Given the description of an element on the screen output the (x, y) to click on. 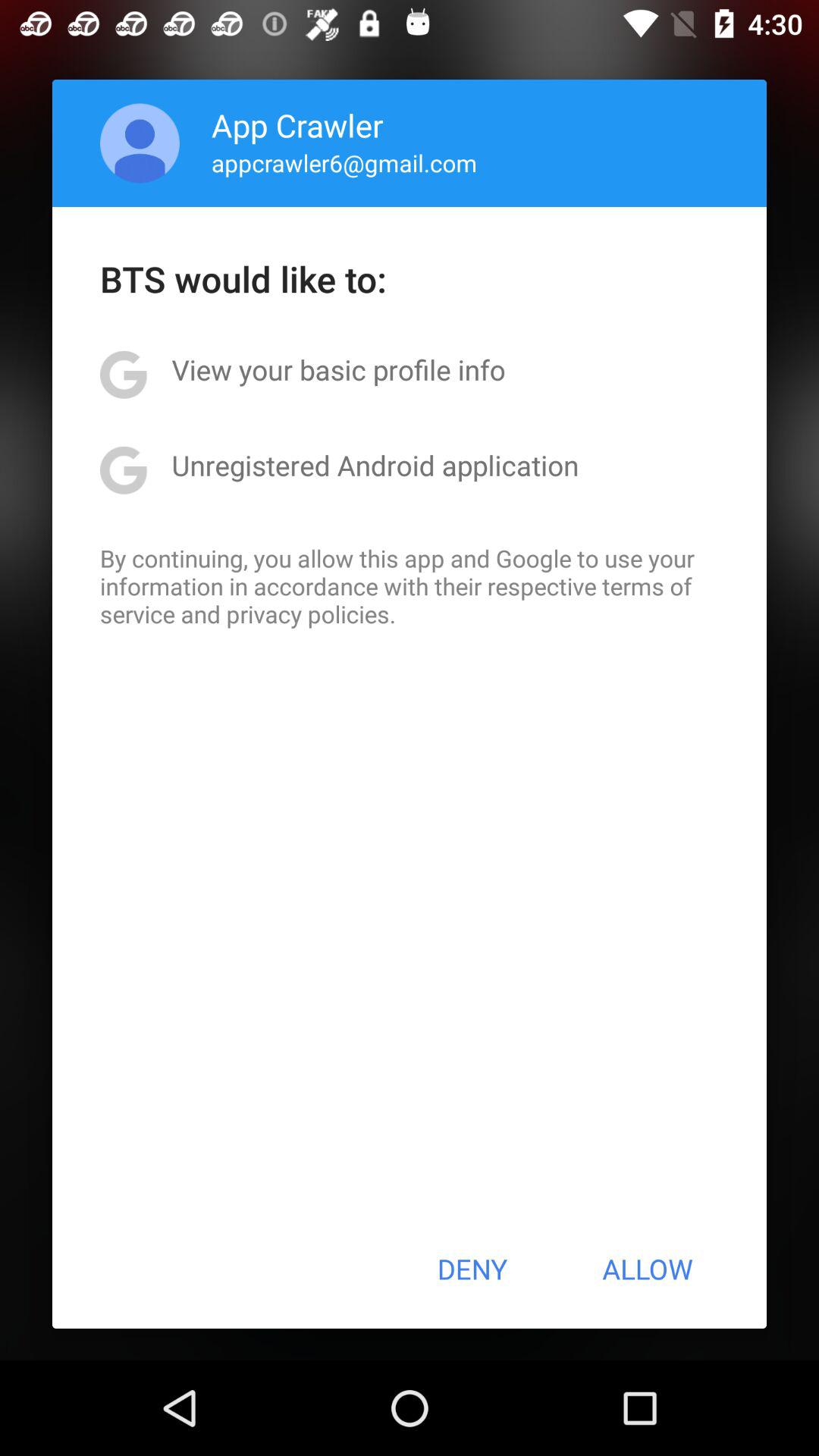
tap icon above the bts would like (139, 143)
